Given the description of an element on the screen output the (x, y) to click on. 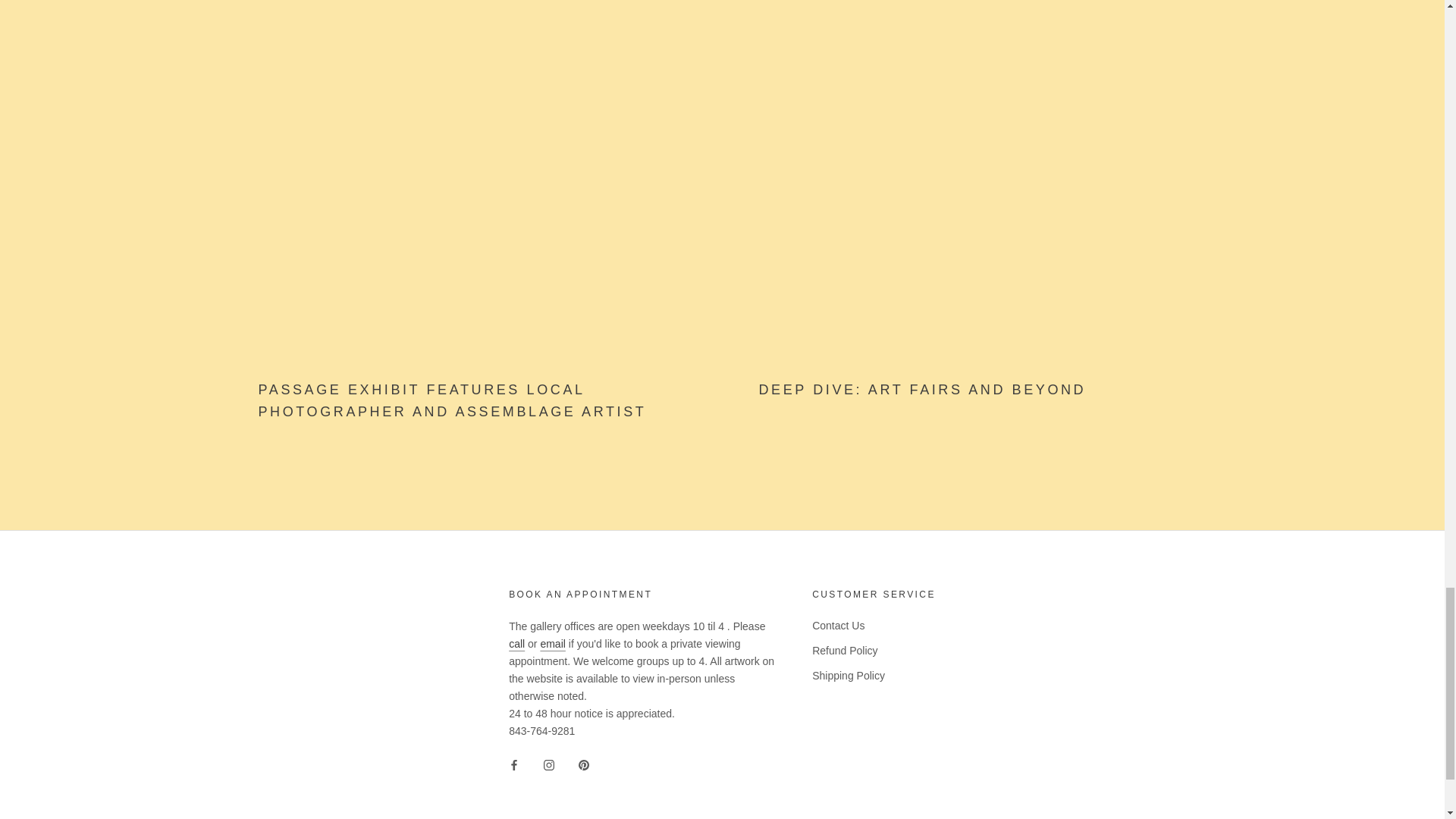
tel:8437649281 (516, 644)
